Given the description of an element on the screen output the (x, y) to click on. 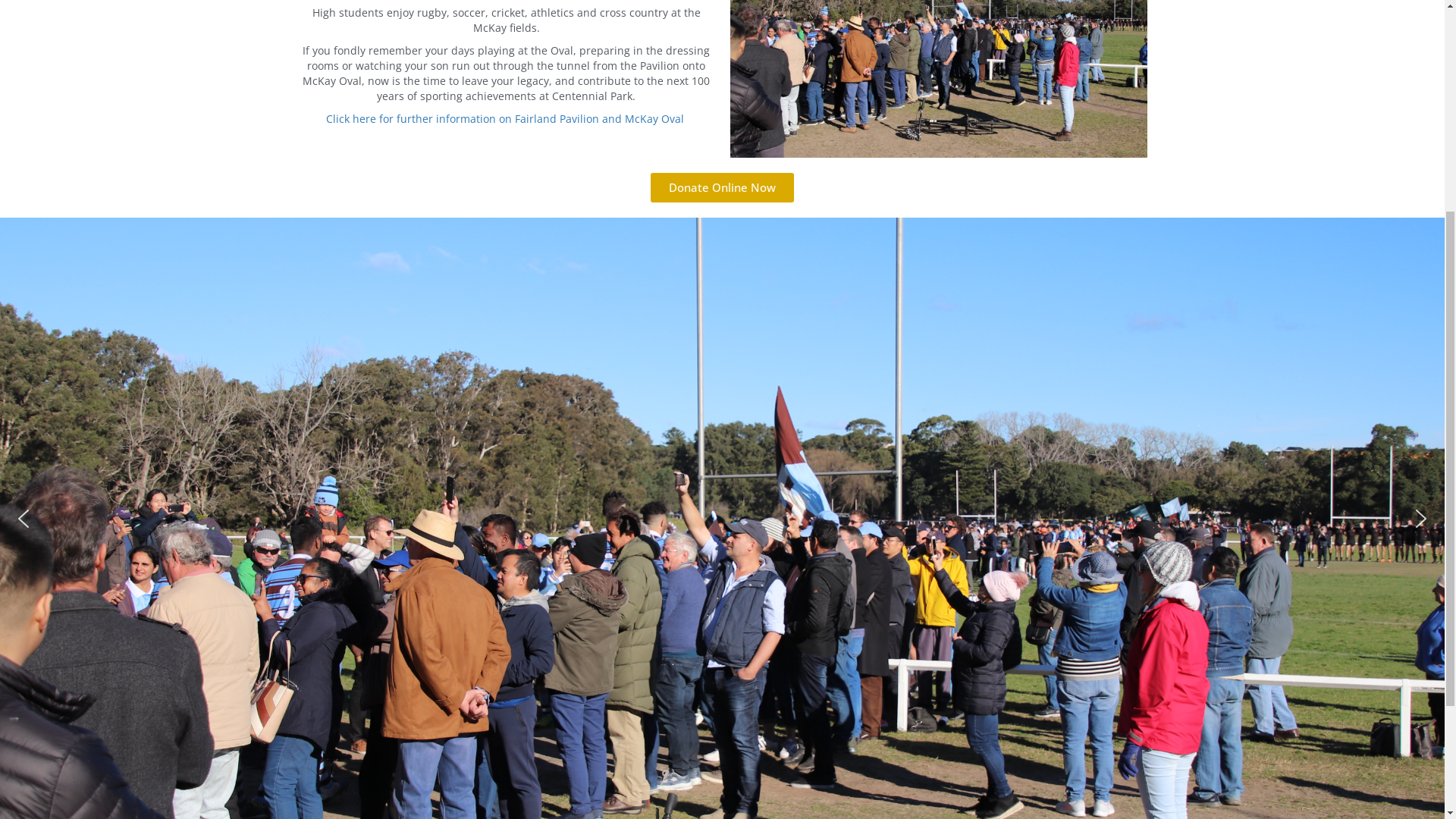
enquiries@shsfoundation.org.au Element type: text (340, 18)
MEDIA LIBRARY Element type: text (1104, 78)
NEWS & EVENTS Element type: text (987, 78)
HOME Element type: text (538, 78)
SUPPORT US Element type: text (796, 78)
Donate Online Now Element type: text (721, 519)
SBHS Element type: text (667, 78)
Facebook Element type: hover (1229, 15)
Twitter Element type: hover (1255, 15)
CONTACT Element type: text (887, 78)
ABOUT Element type: text (604, 78)
OBU Element type: text (718, 78)
